Given the description of an element on the screen output the (x, y) to click on. 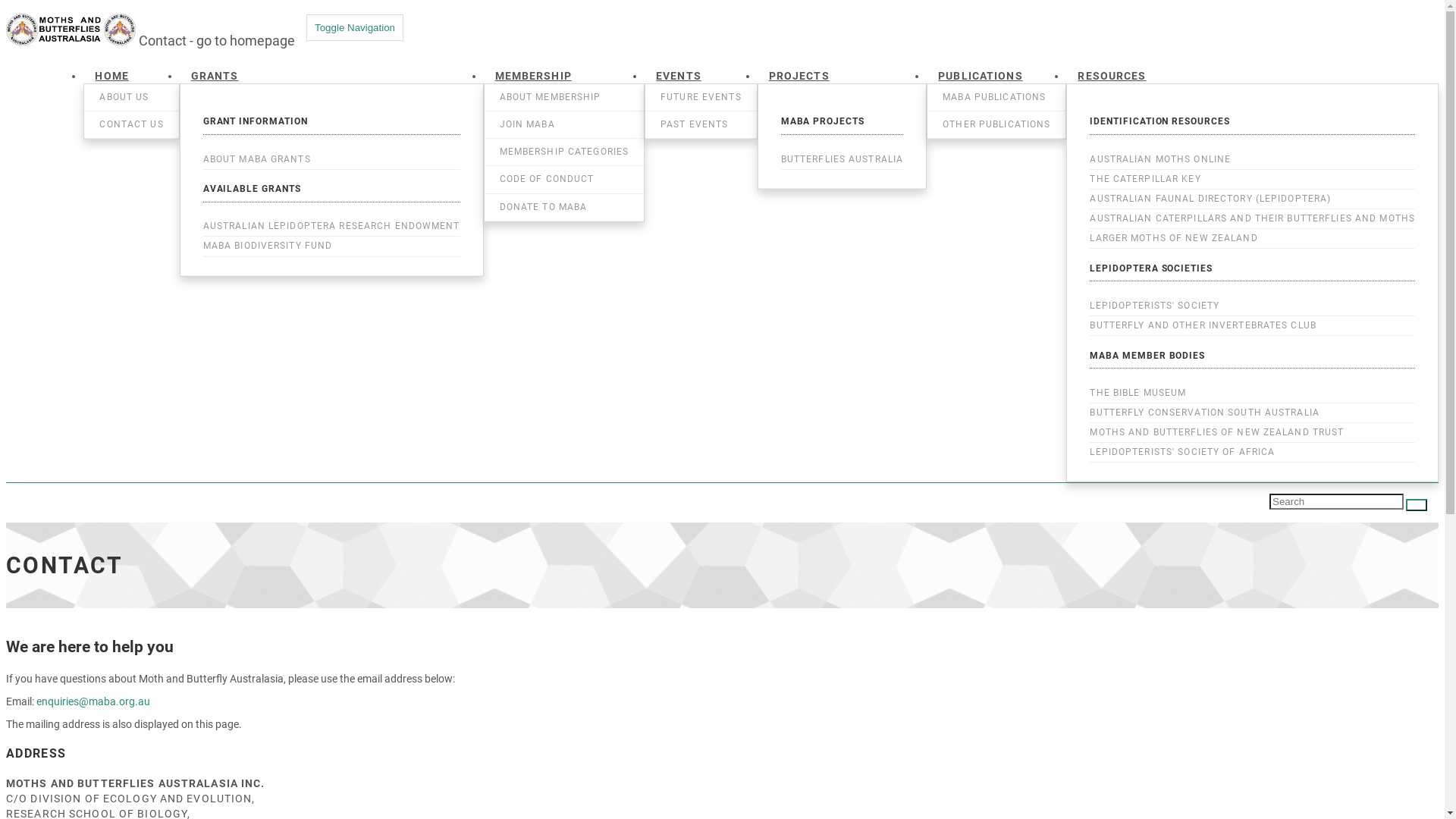
LARGER MOTHS OF NEW ZEALAND Element type: text (1252, 238)
CODE OF CONDUCT Element type: text (564, 179)
OTHER PUBLICATIONS Element type: text (996, 124)
LEPIDOPTERISTS' SOCIETY Element type: text (1252, 305)
enquiries@maba.org.au Element type: text (93, 701)
ABOUT US Element type: text (131, 97)
PUBLICATIONS Element type: text (979, 73)
AUSTRALIAN FAUNAL DIRECTORY (LEPIDOPTERA) Element type: text (1252, 198)
THE CATERPILLAR KEY Element type: text (1252, 178)
AUSTRALIAN LEPIDOPTERA RESEARCH ENDOWMENT Element type: text (331, 225)
AUSTRALIAN MOTHS ONLINE Element type: text (1252, 159)
BUTTERFLY AND OTHER INVERTEBRATES CLUB Element type: text (1252, 325)
BUTTERFLIES AUSTRALIA Element type: text (842, 159)
THE BIBLE MUSEUM Element type: text (1252, 392)
ABOUT MEMBERSHIP Element type: text (564, 97)
MABA PUBLICATIONS Element type: text (996, 97)
ABOUT MABA GRANTS Element type: text (331, 159)
DONATE TO MABA Element type: text (564, 207)
EVENTS Element type: text (678, 73)
PROJECTS Element type: text (798, 73)
JOIN MABA Element type: text (564, 124)
MEMBERSHIP CATEGORIES Element type: text (564, 151)
MEMBERSHIP Element type: text (533, 73)
GRANTS Element type: text (214, 73)
FUTURE EVENTS Element type: text (700, 97)
LEPIDOPTERISTS' SOCIETY OF AFRICA Element type: text (1252, 451)
RESOURCES Element type: text (1111, 73)
MABA BIODIVERSITY FUND Element type: text (331, 245)
Toggle Navigation Element type: text (354, 27)
HOME Element type: text (111, 73)
BUTTERFLY CONSERVATION SOUTH AUSTRALIA Element type: text (1252, 412)
PAST EVENTS Element type: text (700, 124)
MOTHS AND BUTTERFLIES OF NEW ZEALAND TRUST Element type: text (1252, 432)
AUSTRALIAN CATERPILLARS AND THEIR BUTTERFLIES AND MOTHS Element type: text (1252, 218)
CONTACT US Element type: text (131, 124)
